Given the description of an element on the screen output the (x, y) to click on. 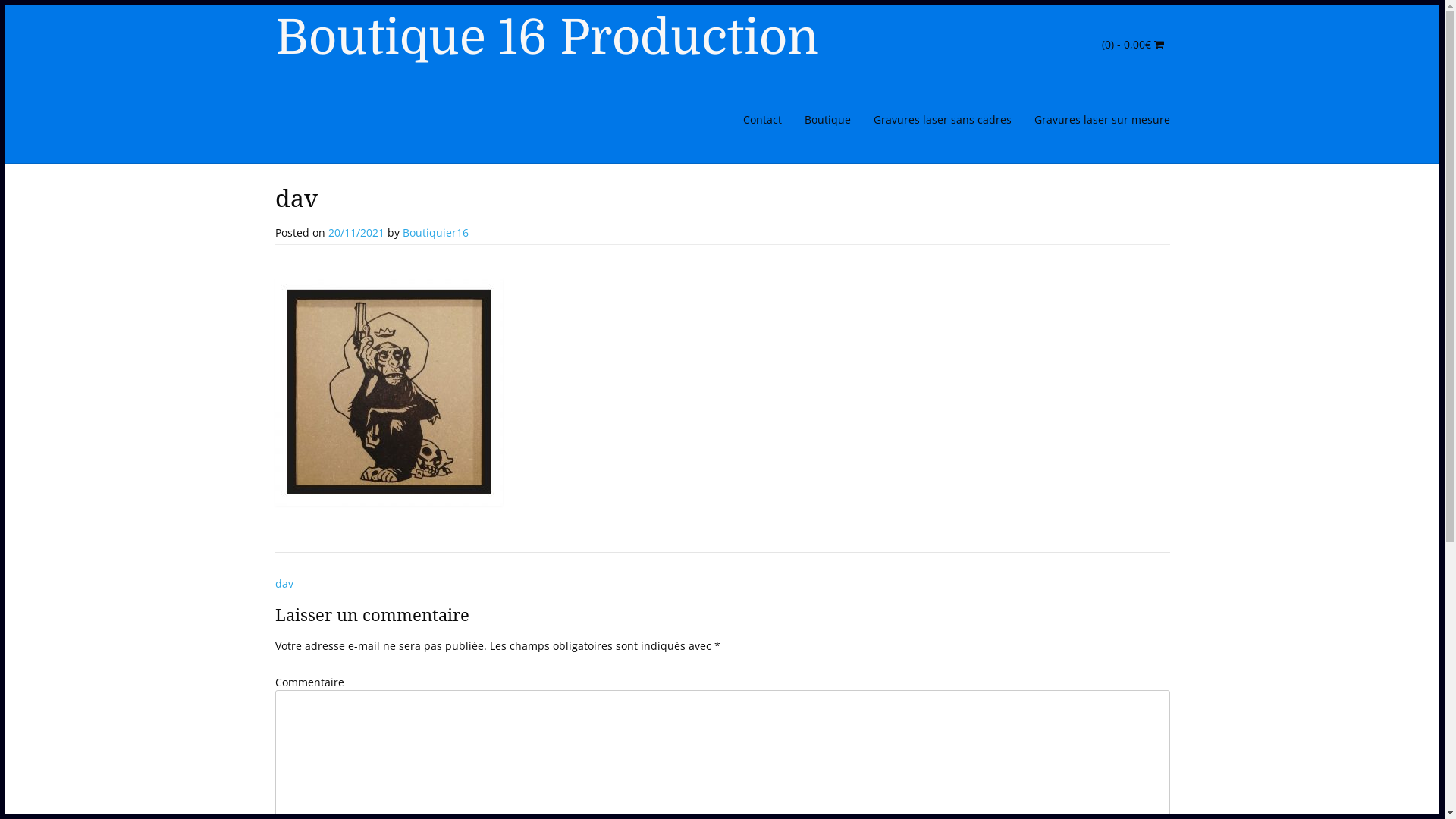
Gravures laser sans cadres Element type: text (941, 125)
Boutique Element type: text (827, 125)
Boutique 16 Production Element type: text (546, 37)
Boutiquier16 Element type: text (434, 232)
dav Element type: text (283, 583)
Contact Element type: text (761, 125)
Gravures laser sur mesure Element type: text (1095, 125)
20/11/2021 Element type: text (355, 232)
